Given the description of an element on the screen output the (x, y) to click on. 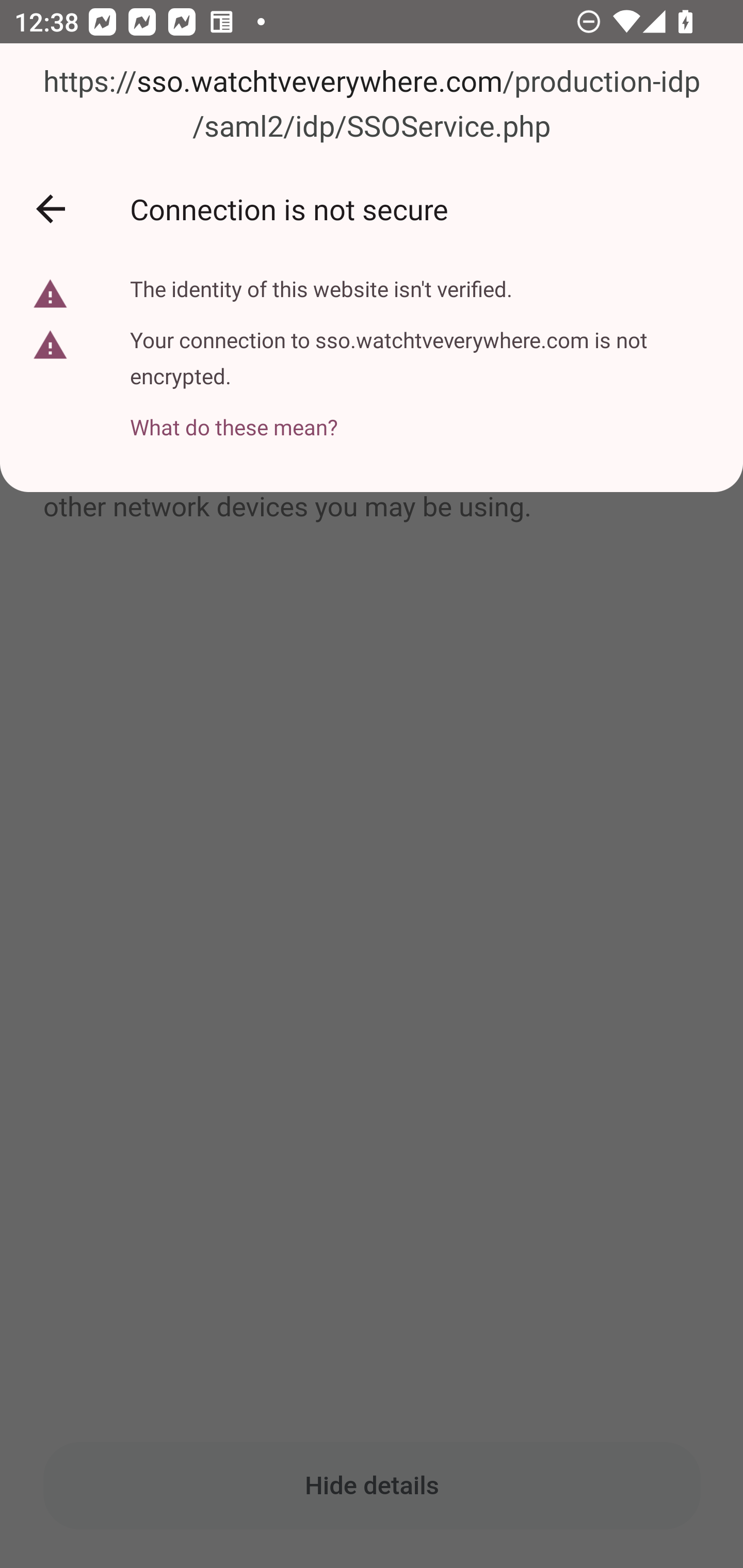
Back (50, 209)
What do these mean? (422, 416)
